Given the description of an element on the screen output the (x, y) to click on. 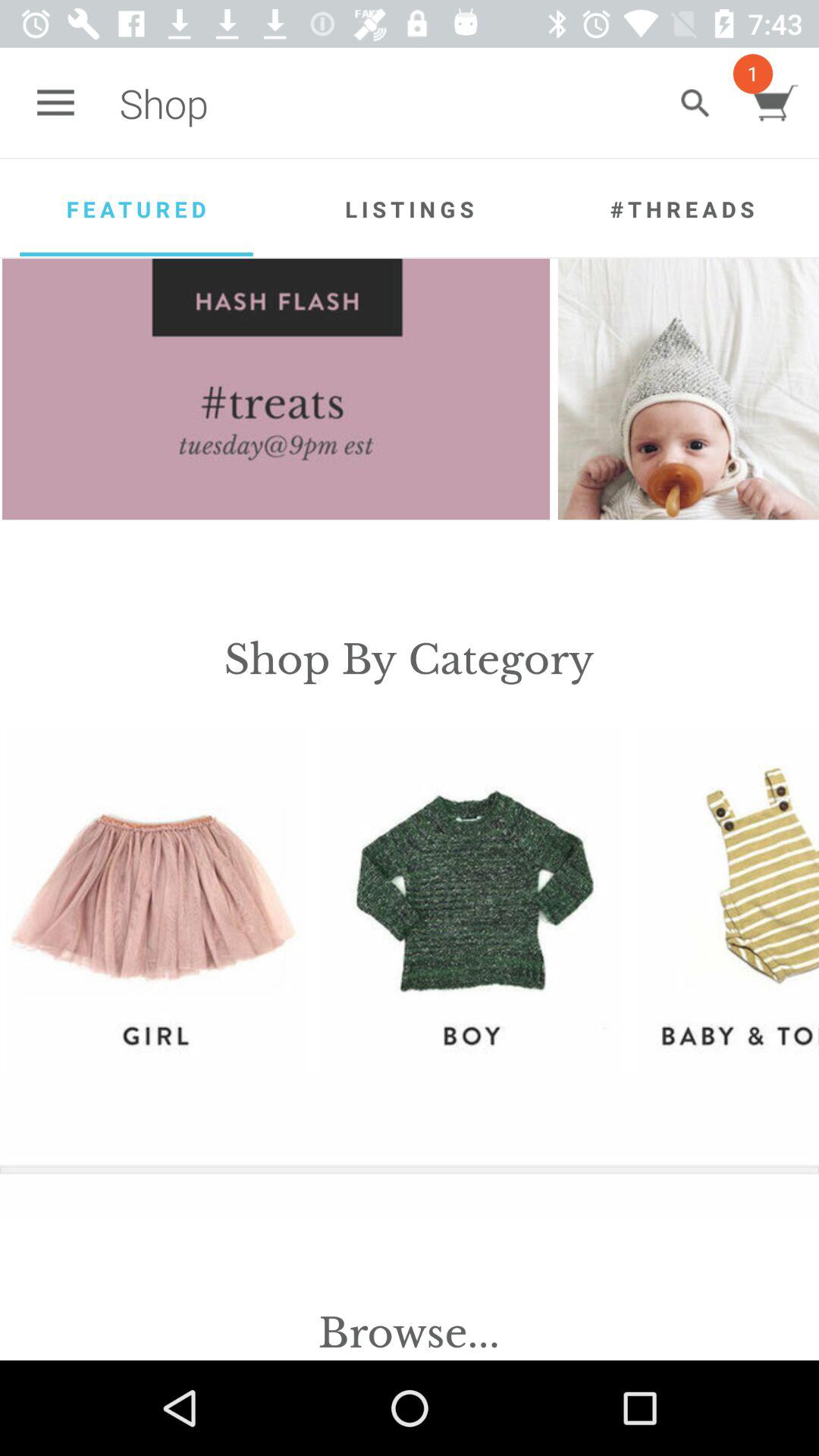
turn off the item below the shop by category (154, 899)
